Given the description of an element on the screen output the (x, y) to click on. 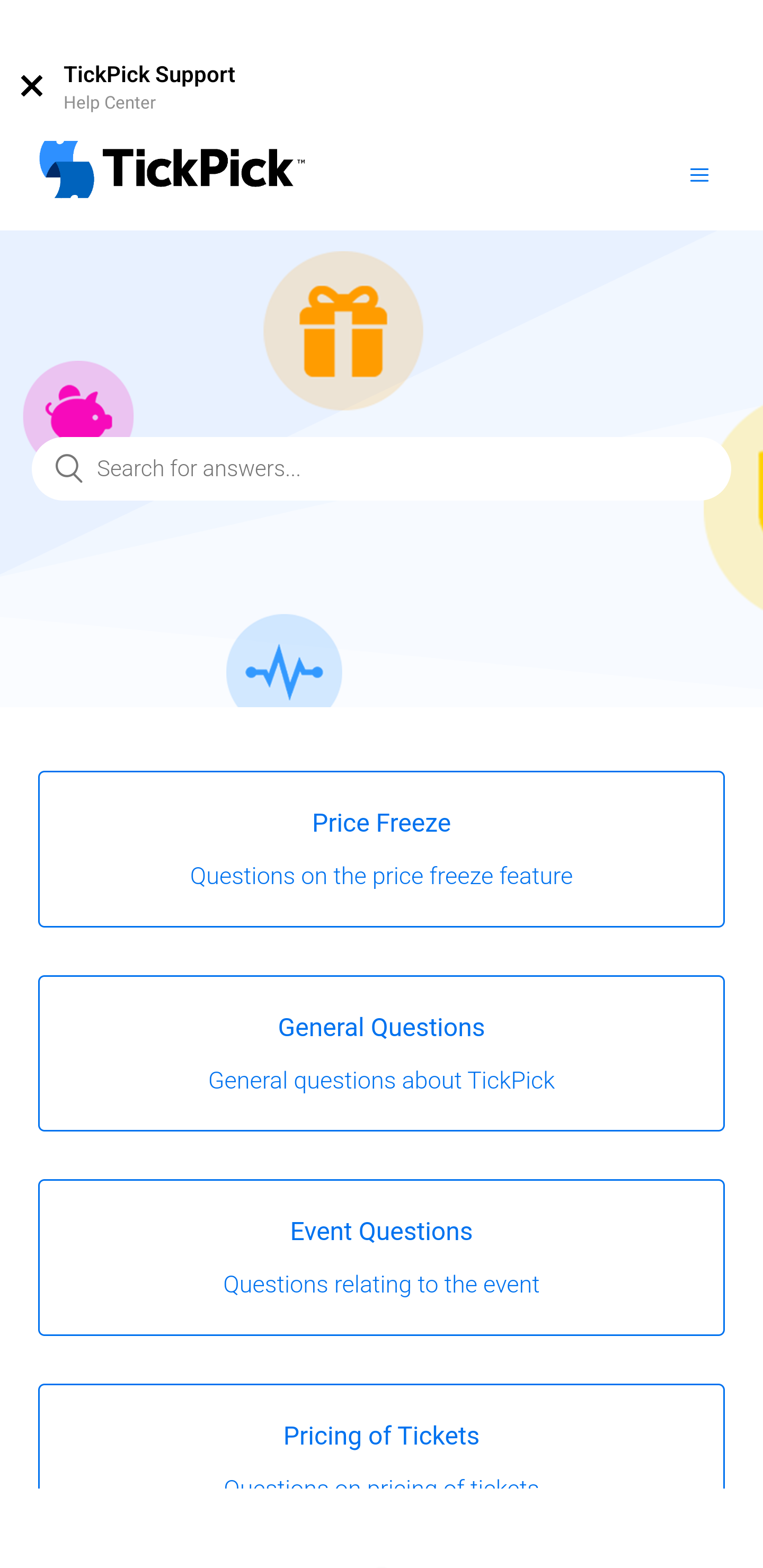
TickPick FAQ Help Center home page (171, 171)
Toggle navigation menu (698, 173)
